Given the description of an element on the screen output the (x, y) to click on. 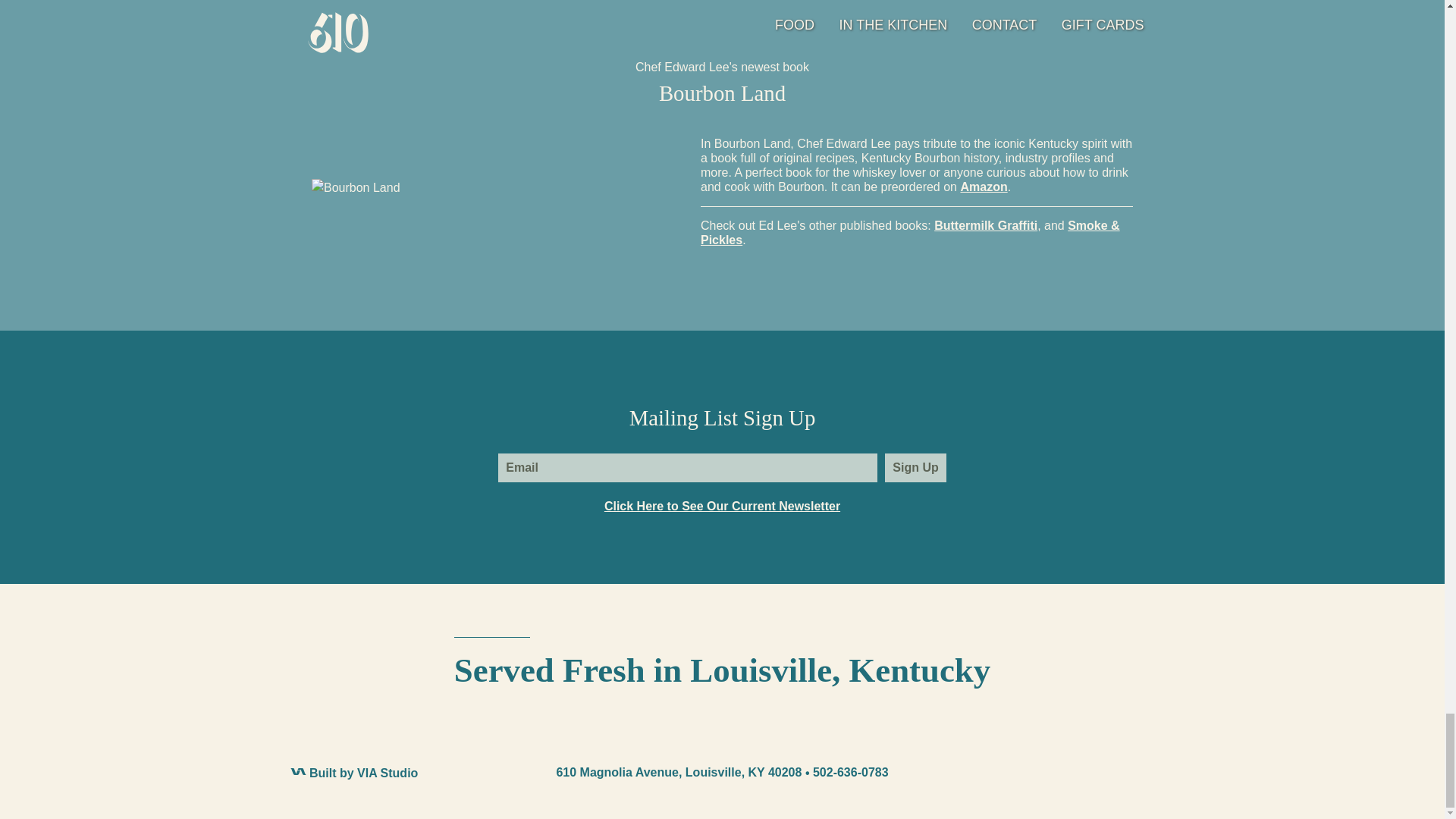
Built by VIA Studio (353, 772)
502-636-0783 (850, 771)
Click Here to See Our Current Newsletter (722, 505)
Sign Up (914, 467)
Buttermilk Graffiti (985, 225)
610 Magnolia Avenue, Louisville, KY 40208 (682, 771)
Built by VIA Studio (353, 772)
Amazon (983, 186)
Sign Up (914, 467)
Bourbon Land  (355, 188)
